Given the description of an element on the screen output the (x, y) to click on. 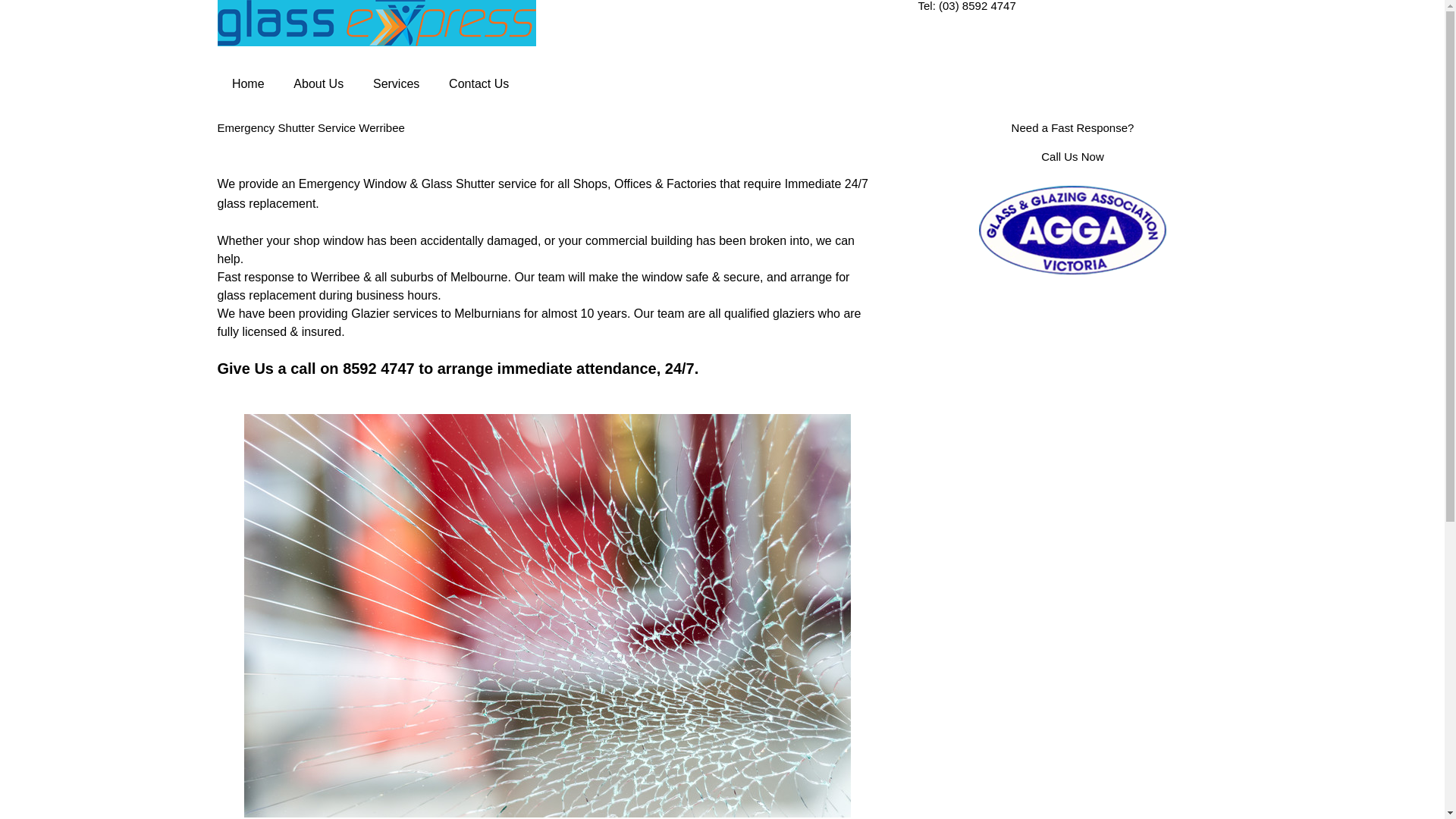
Need a Fast Response?
Call Us Now Element type: text (1071, 142)
About Us Element type: text (318, 84)
Services Element type: text (396, 84)
Home Element type: text (247, 84)
Contact Us Element type: text (479, 84)
8592 4747 Element type: text (378, 368)
